Given the description of an element on the screen output the (x, y) to click on. 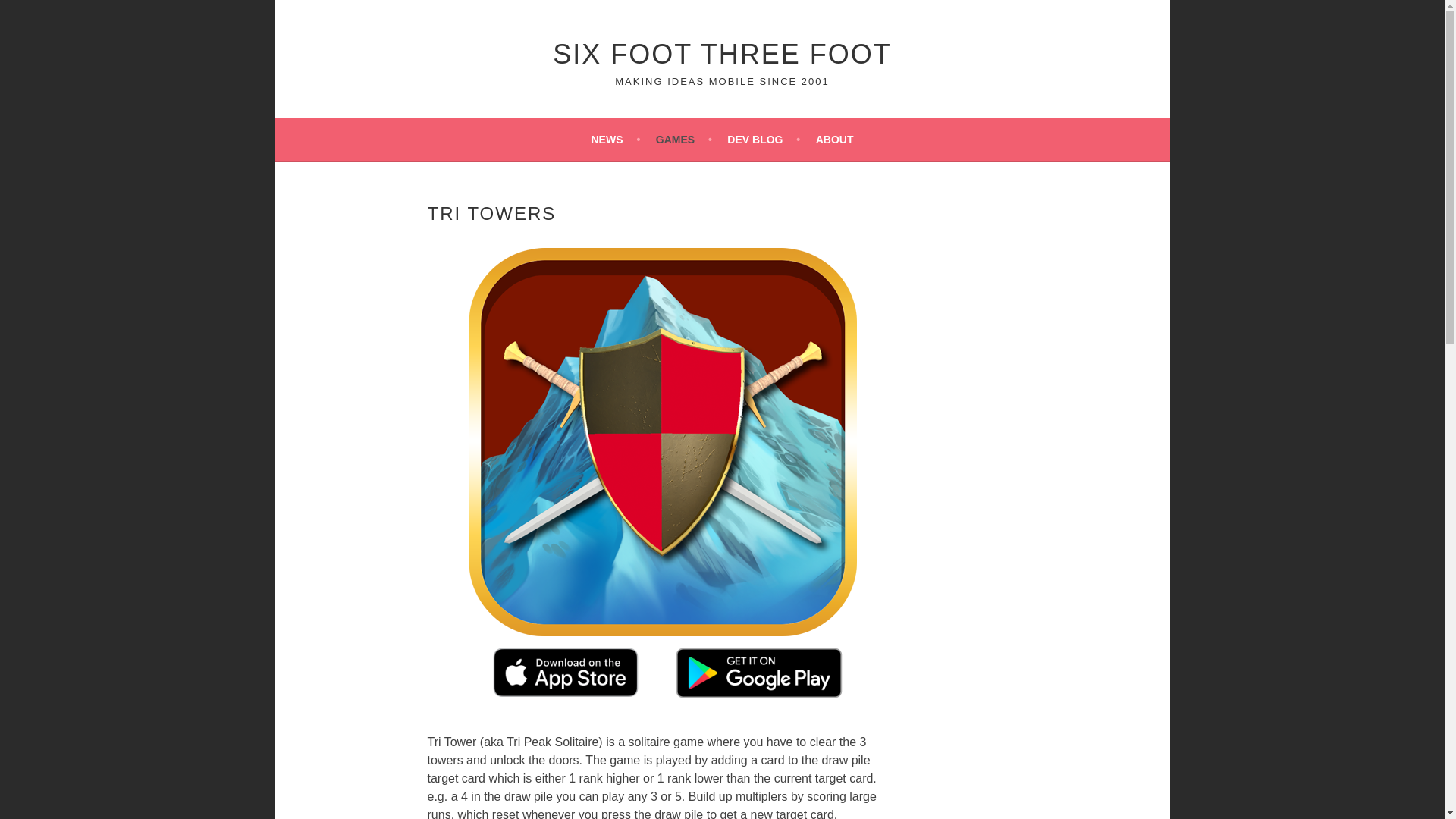
DEV BLOG (762, 139)
GAMES (683, 139)
Six Foot Three Foot (722, 53)
NEWS (615, 139)
ABOUT (834, 139)
SIX FOOT THREE FOOT (722, 53)
